Given the description of an element on the screen output the (x, y) to click on. 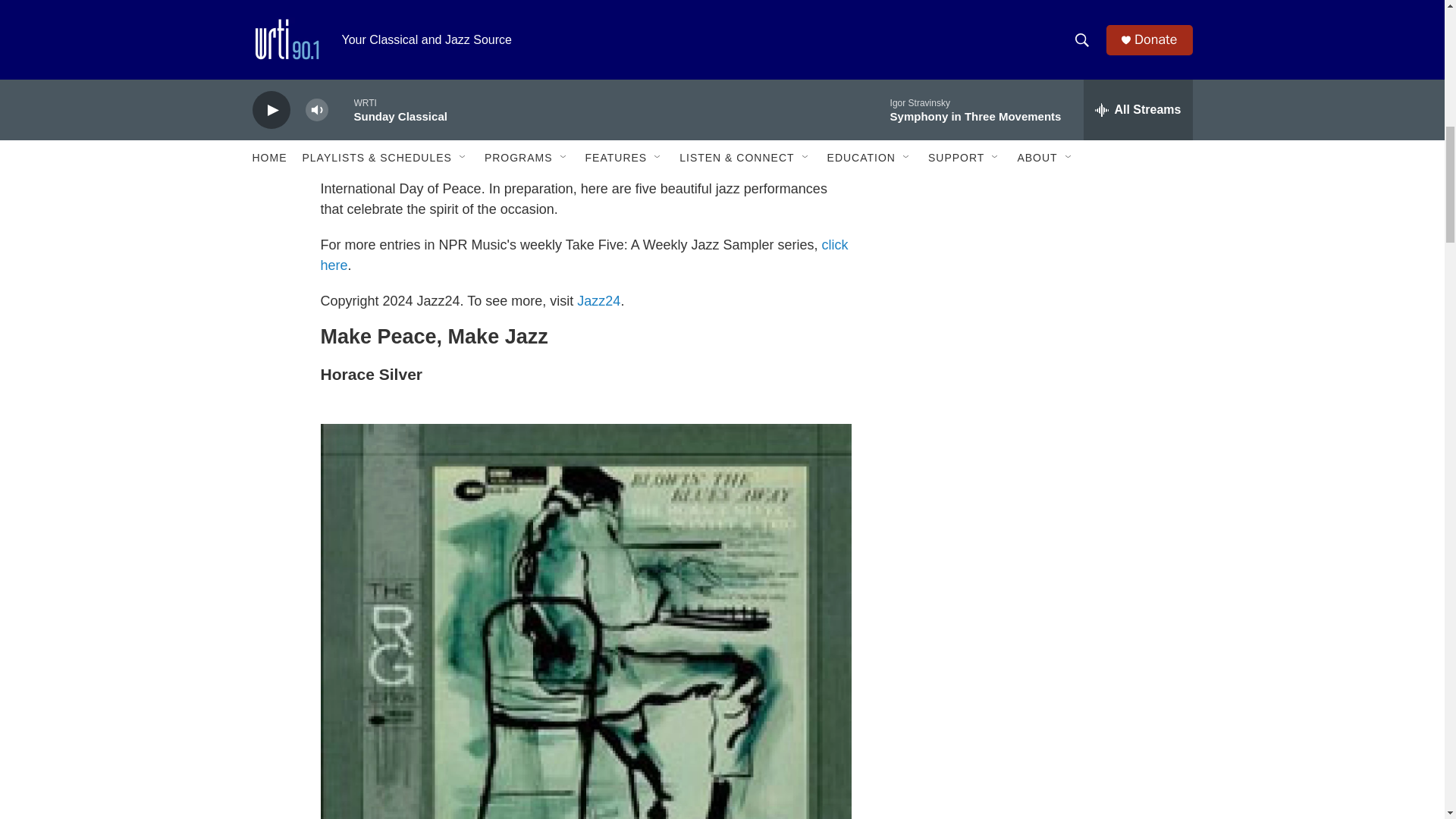
3rd party ad content (1062, 380)
3rd party ad content (1062, 175)
3rd party ad content (1062, 585)
